Given the description of an element on the screen output the (x, y) to click on. 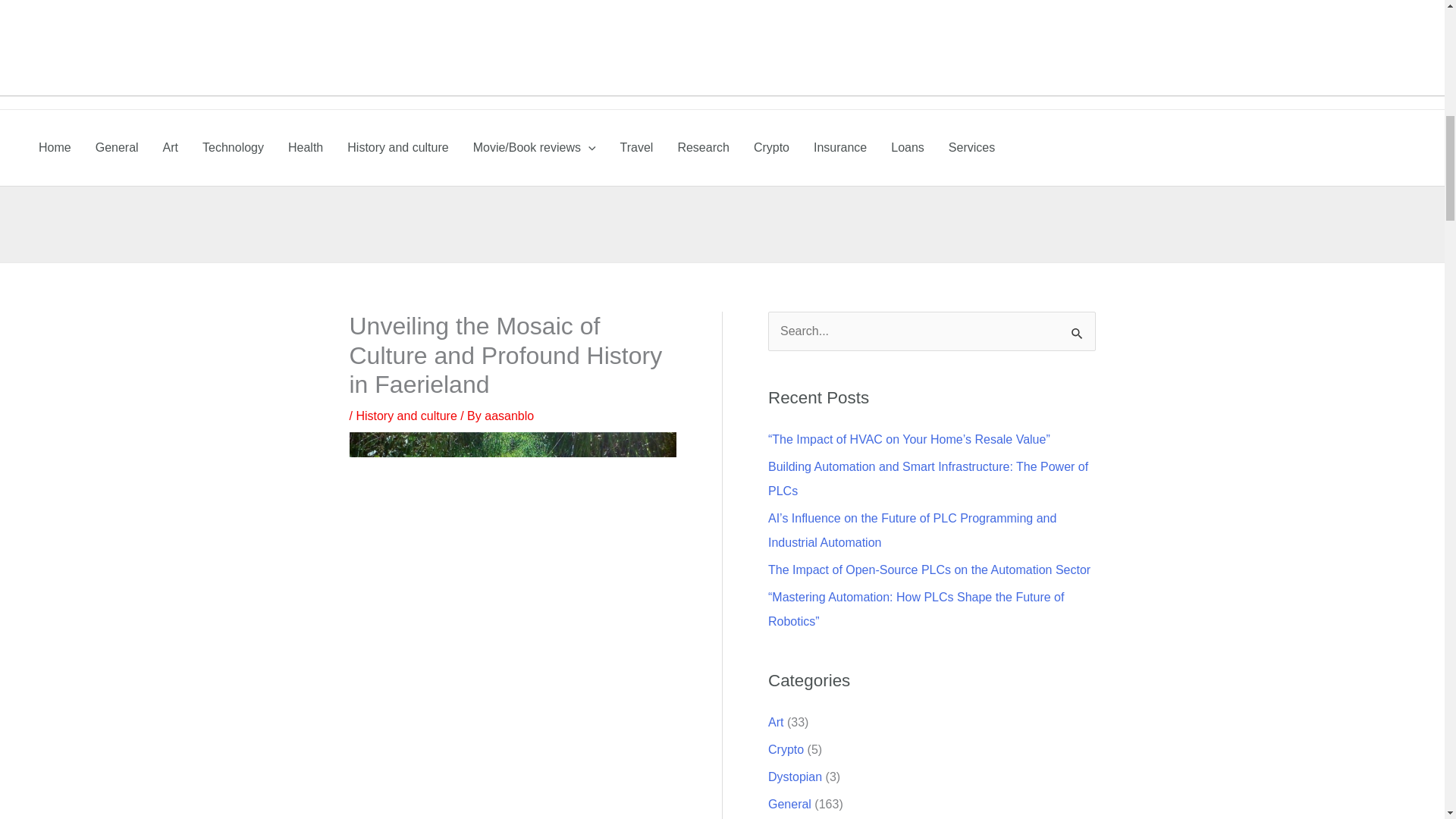
Research (703, 147)
View all posts by aasanblo (509, 415)
History and culture (397, 147)
aasanblo (509, 415)
Insurance (840, 147)
General (116, 147)
Technology (233, 147)
History and culture (406, 415)
Services (971, 147)
